Given the description of an element on the screen output the (x, y) to click on. 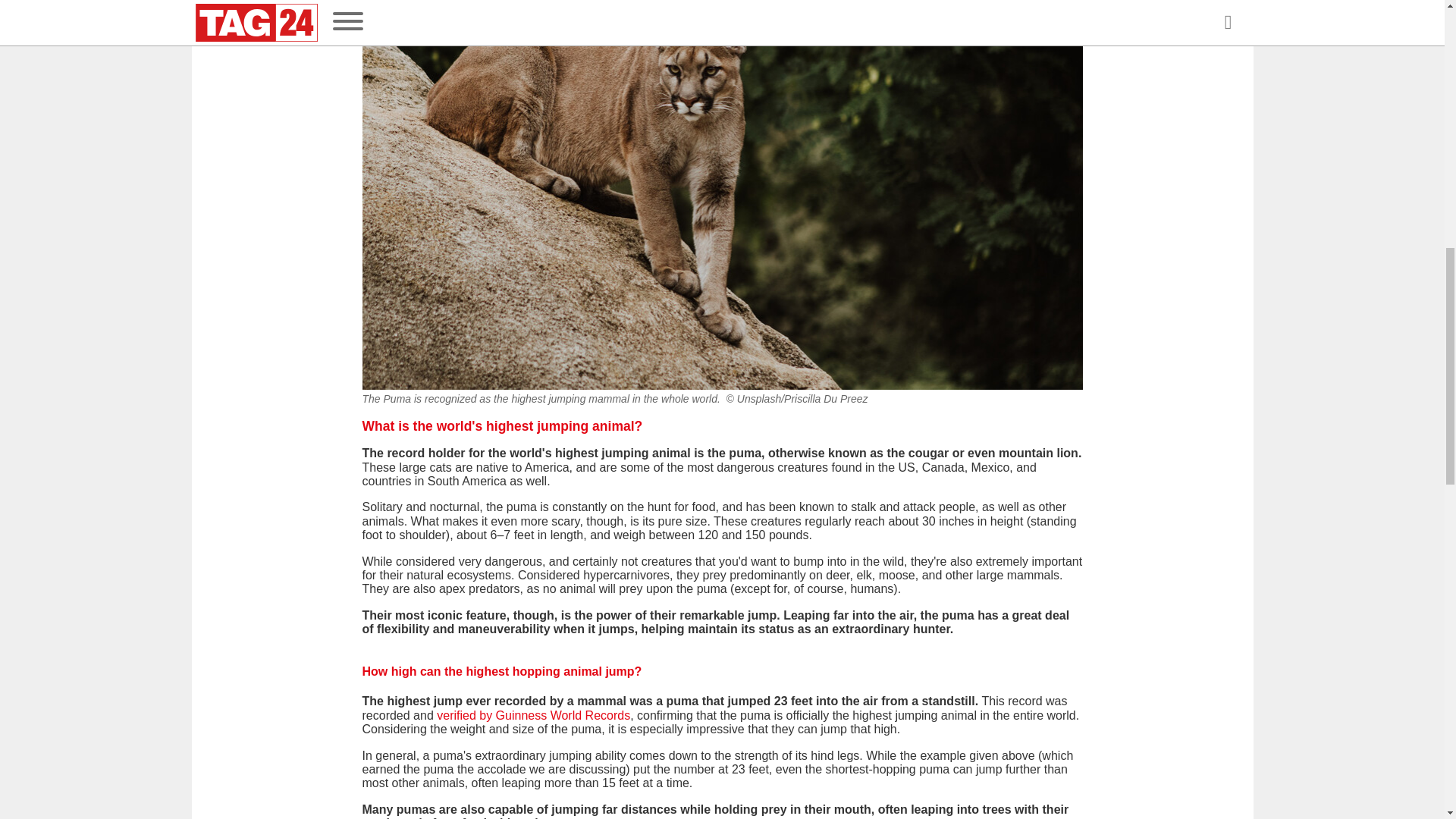
verified by Guinness World Records (533, 715)
